Given the description of an element on the screen output the (x, y) to click on. 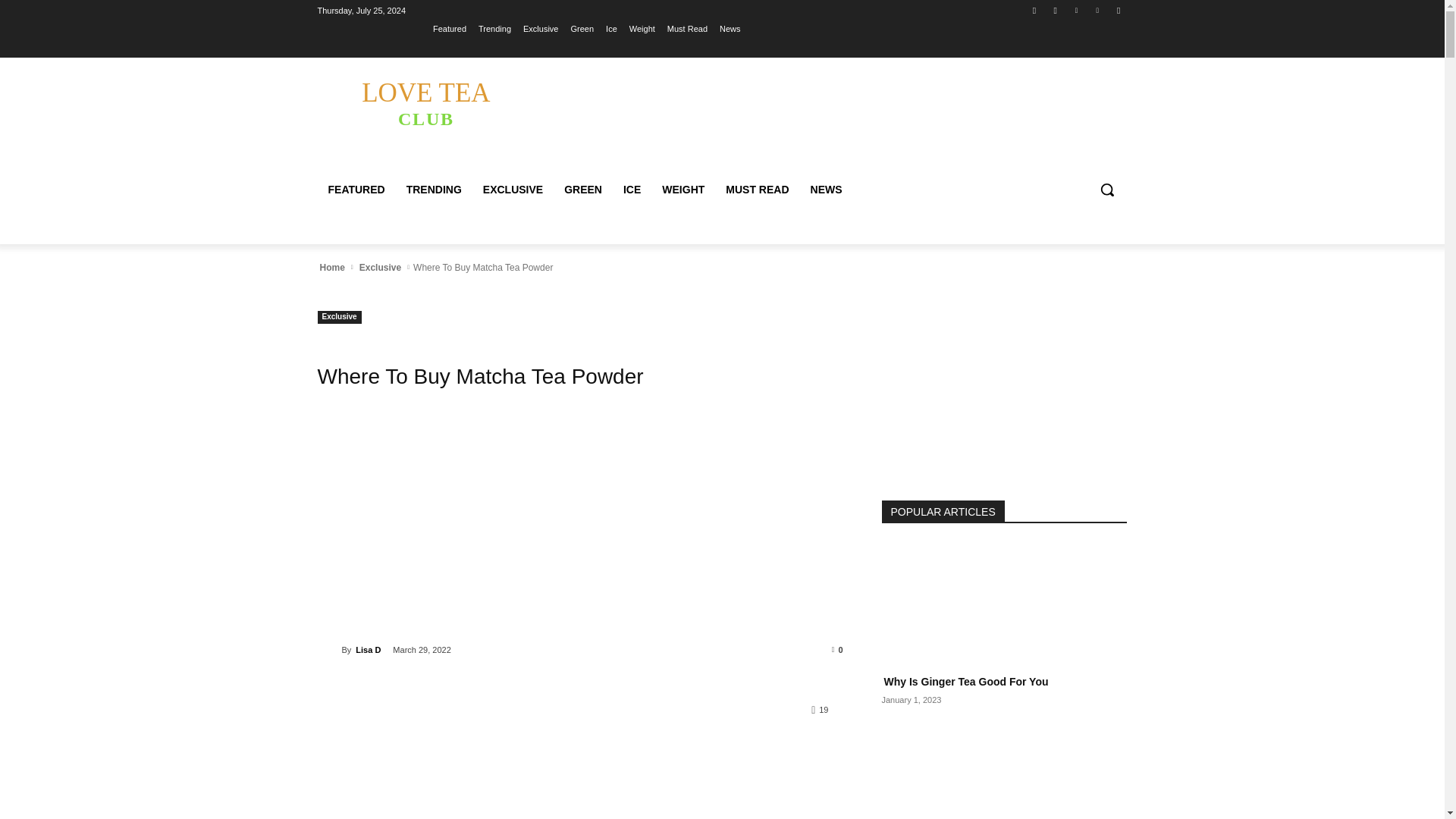
Green (582, 28)
Must Read (686, 28)
TRENDING (433, 189)
MUST READ (756, 189)
Instagram (1055, 9)
Weight (641, 28)
GREEN (582, 189)
EXCLUSIVE (512, 189)
ICE (631, 189)
News (730, 28)
Lisa D (328, 649)
Twitter (1075, 9)
Home (331, 267)
Featured (448, 28)
Ice (611, 28)
